Given the description of an element on the screen output the (x, y) to click on. 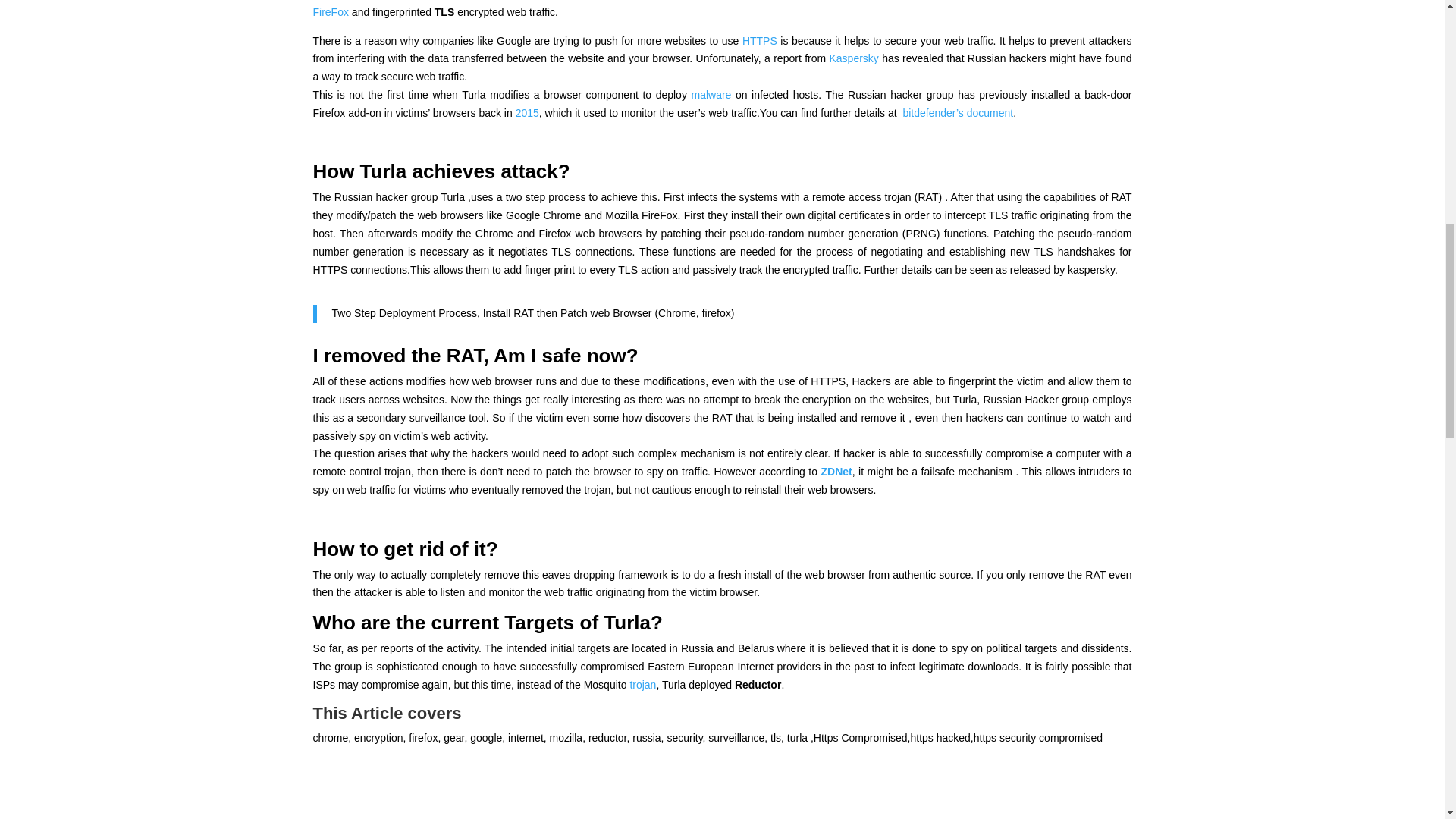
RAT (464, 354)
Mozilla FireFox (722, 9)
Kaspersky (852, 58)
trojan (642, 684)
ZDNet (836, 471)
2015 (526, 112)
malware (710, 94)
HTTPS (759, 40)
